Given the description of an element on the screen output the (x, y) to click on. 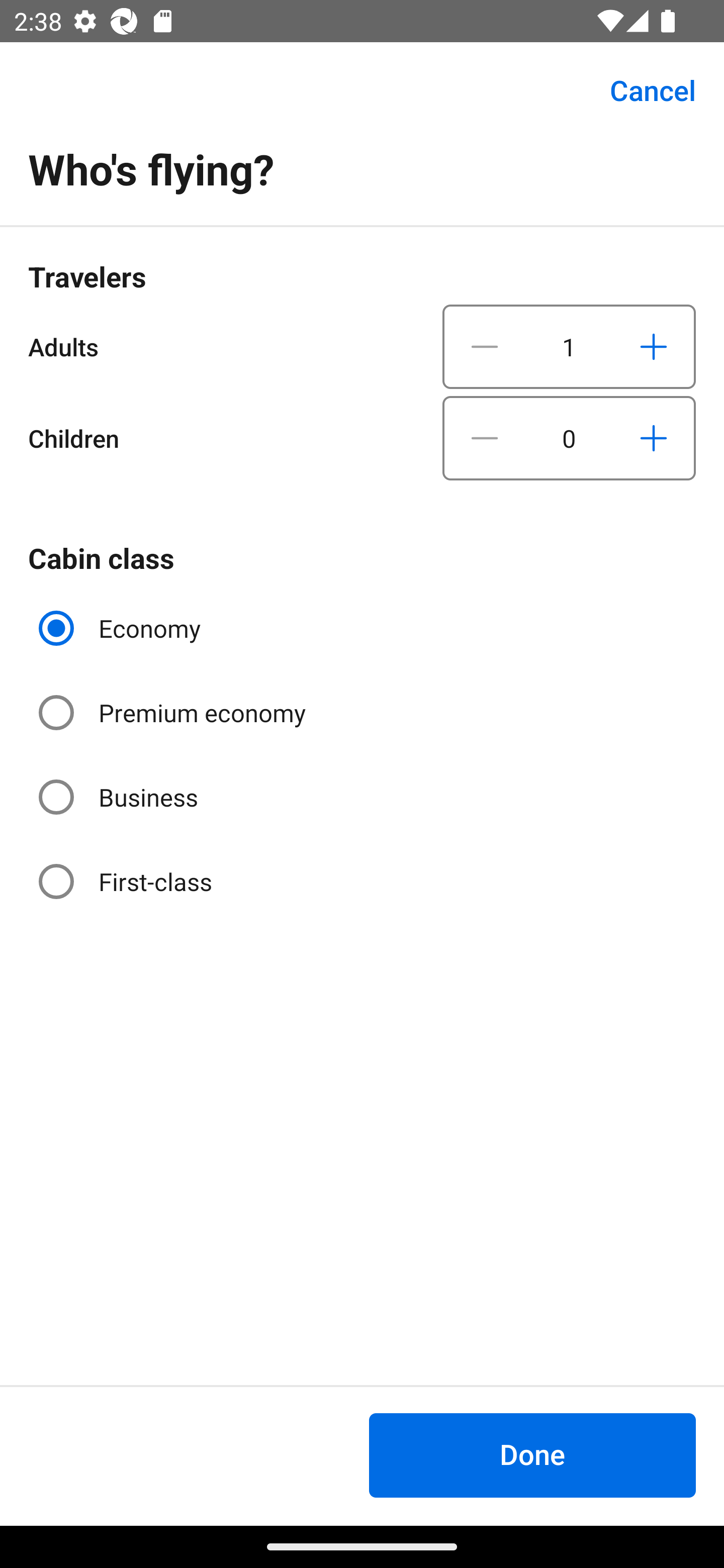
Cancel (641, 90)
Decrease (484, 346)
Increase (653, 346)
Decrease (484, 437)
Increase (653, 437)
Economy (121, 628)
Premium economy (174, 712)
Business (120, 796)
First-class (126, 880)
Done (532, 1454)
